Given the description of an element on the screen output the (x, y) to click on. 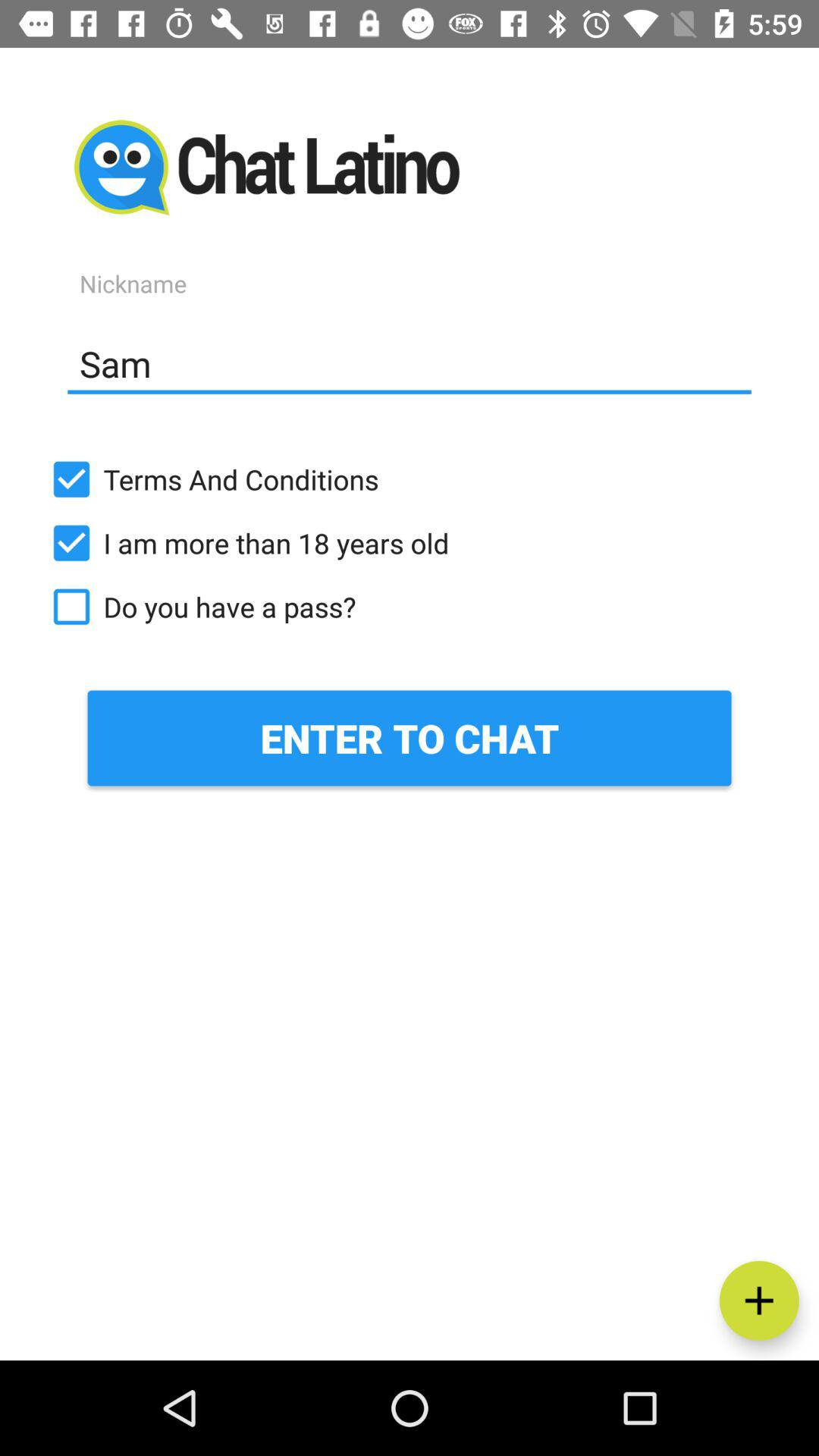
swipe to terms and conditions item (409, 479)
